Given the description of an element on the screen output the (x, y) to click on. 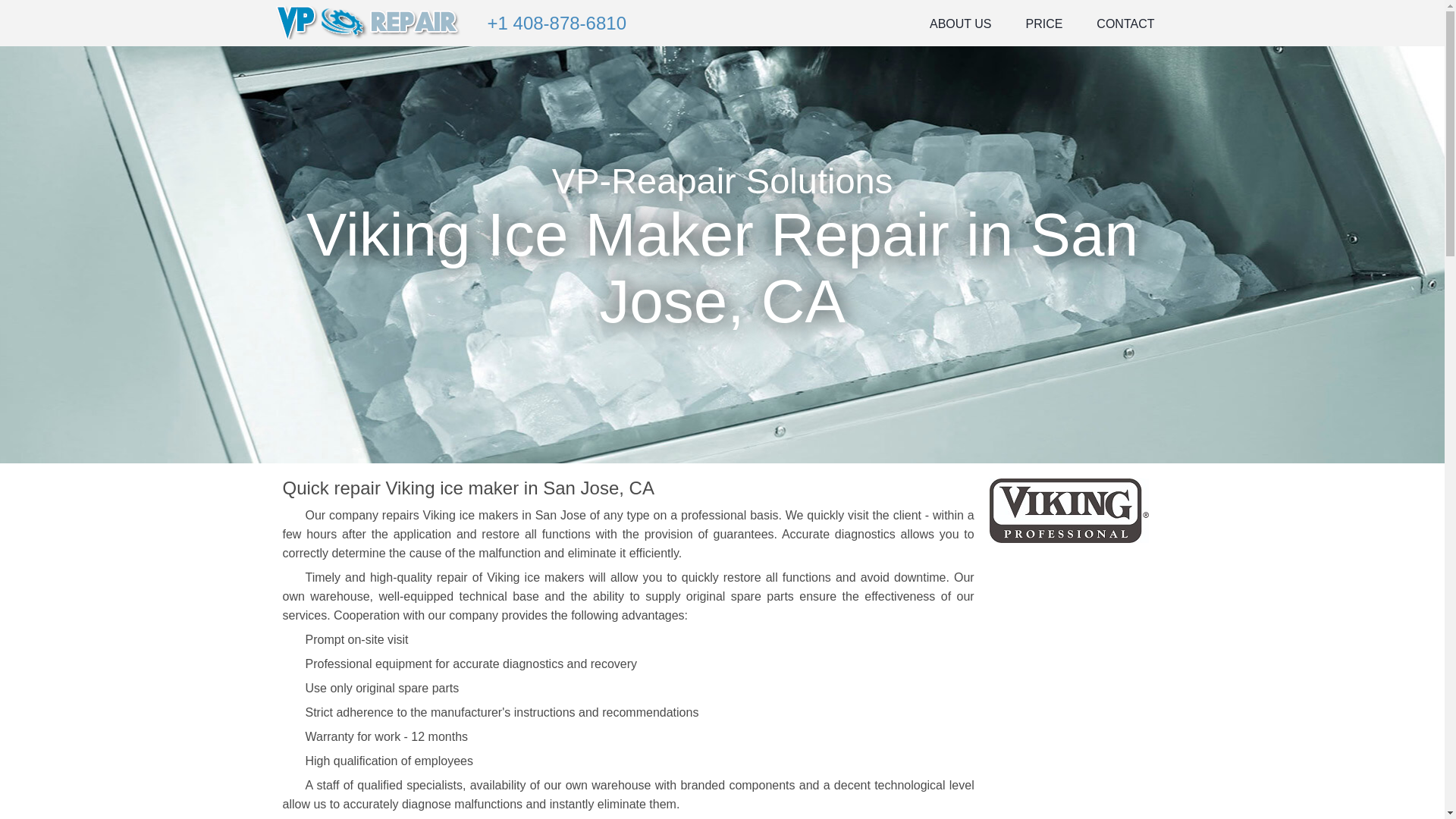
CONTACT (1125, 19)
VP-Repair (369, 20)
ABOUT US (959, 19)
PRICE (1043, 19)
Viking Ice Maker Repair (1069, 510)
